Given the description of an element on the screen output the (x, y) to click on. 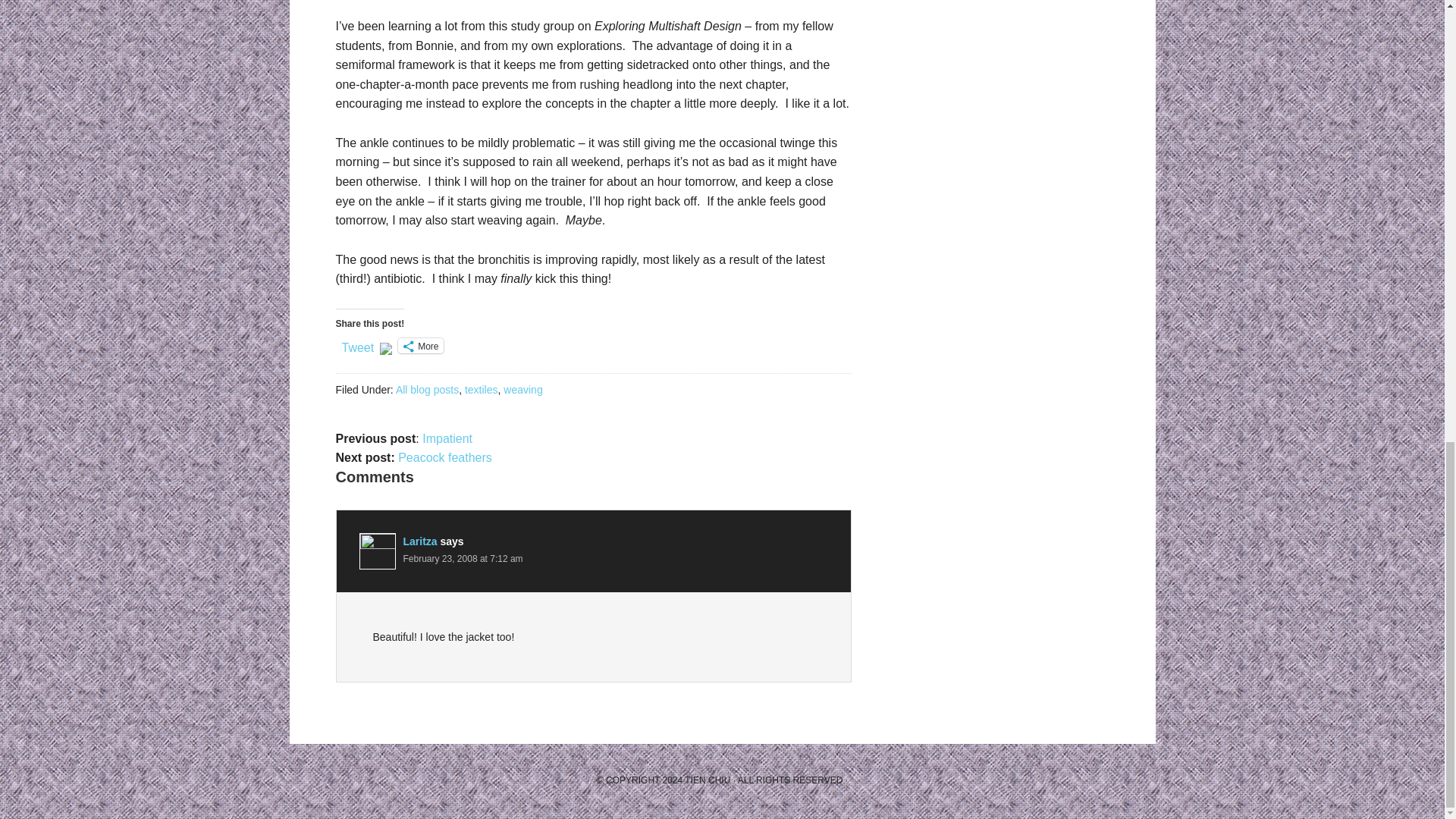
February 23, 2008 at 7:12 am (462, 558)
More (419, 345)
textiles (480, 389)
Impatient (446, 438)
weaving (522, 389)
Peacock feathers (444, 457)
Tweet (357, 345)
Laritza (420, 541)
All blog posts (427, 389)
TIEN CHIU (707, 779)
